Given the description of an element on the screen output the (x, y) to click on. 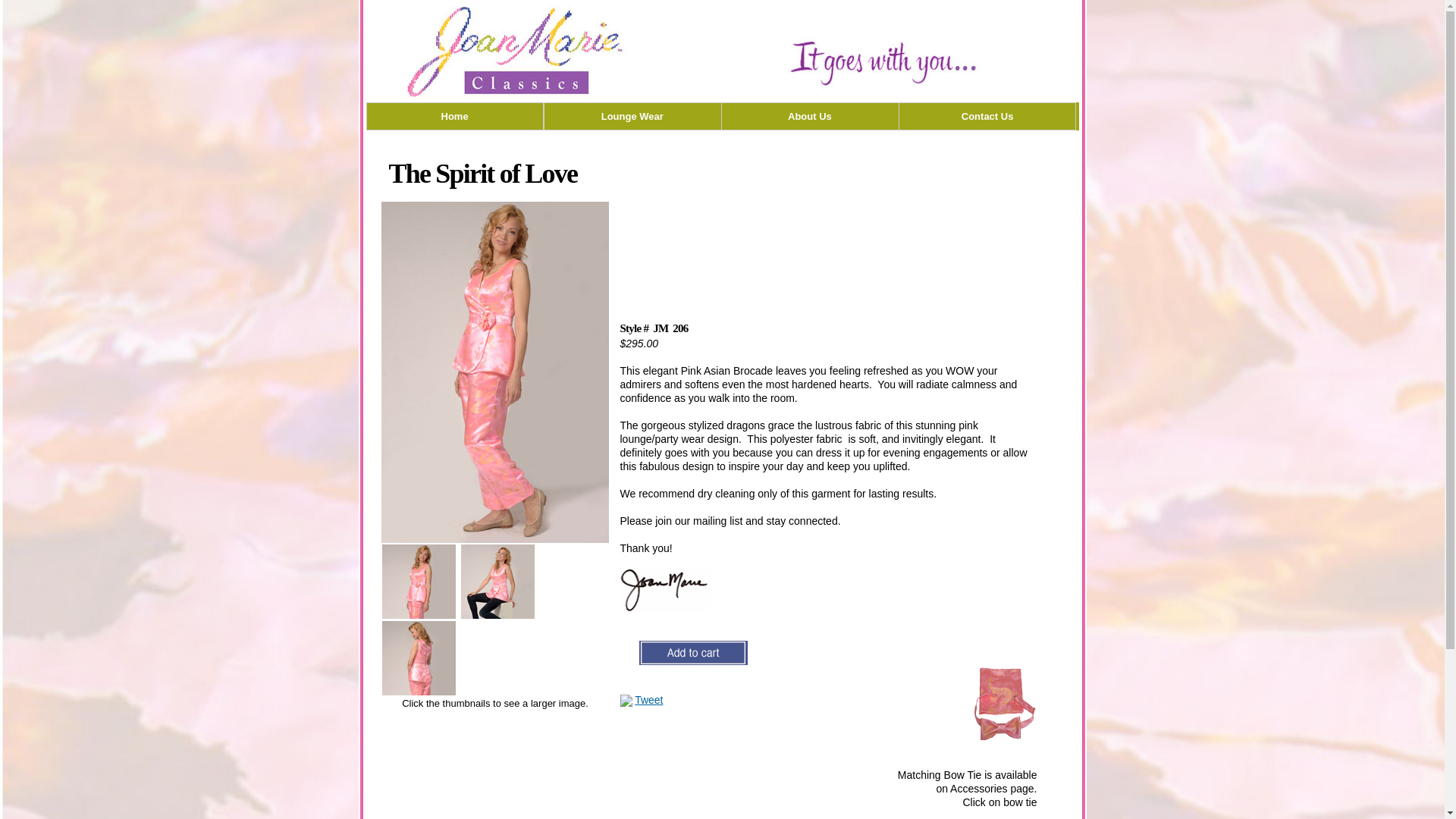
Home (454, 116)
Tweet (648, 699)
Skip to main content (693, 1)
